Given the description of an element on the screen output the (x, y) to click on. 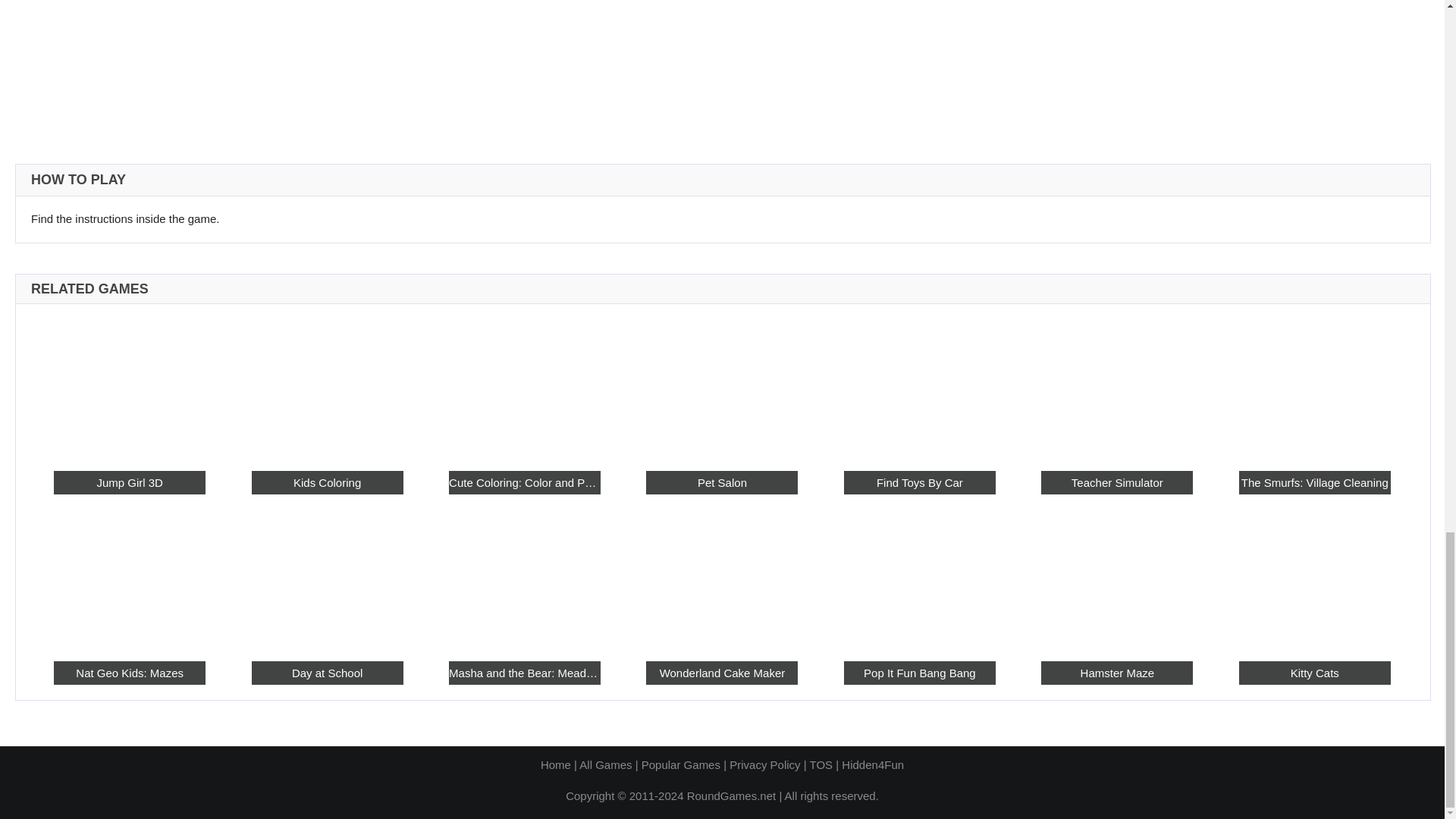
Jump Girl 3D (129, 386)
Find Toys By Car (919, 482)
Cute Coloring: Color and Paint (523, 482)
Advertisement (721, 64)
Kids Coloring (327, 482)
Find Toys By Car (919, 386)
Cute Coloring: Color and Paint (523, 386)
Pet Salon (721, 386)
Teacher Simulator (1116, 386)
Kids Coloring (327, 386)
Pet Salon (721, 482)
Jump Girl 3D (129, 482)
